Given the description of an element on the screen output the (x, y) to click on. 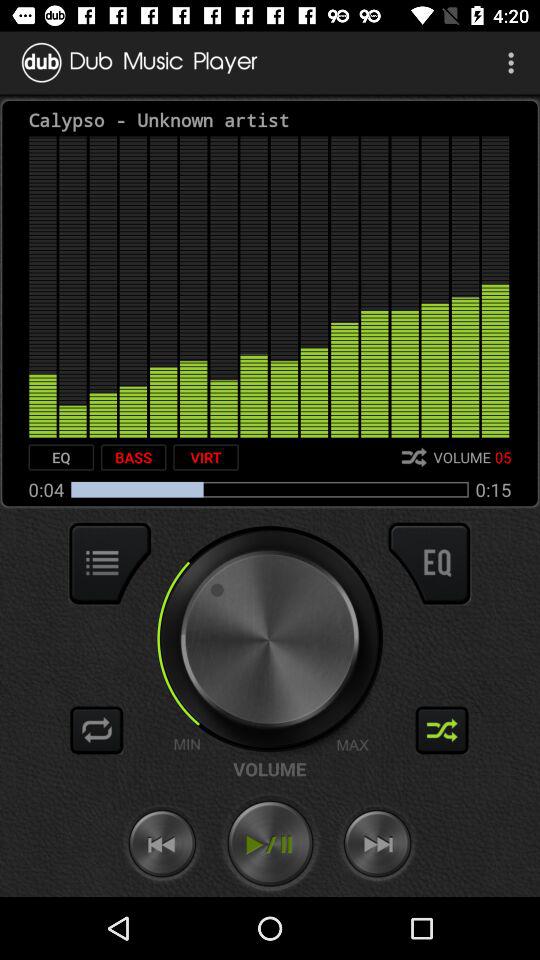
press the item below 0:15 item (429, 563)
